Given the description of an element on the screen output the (x, y) to click on. 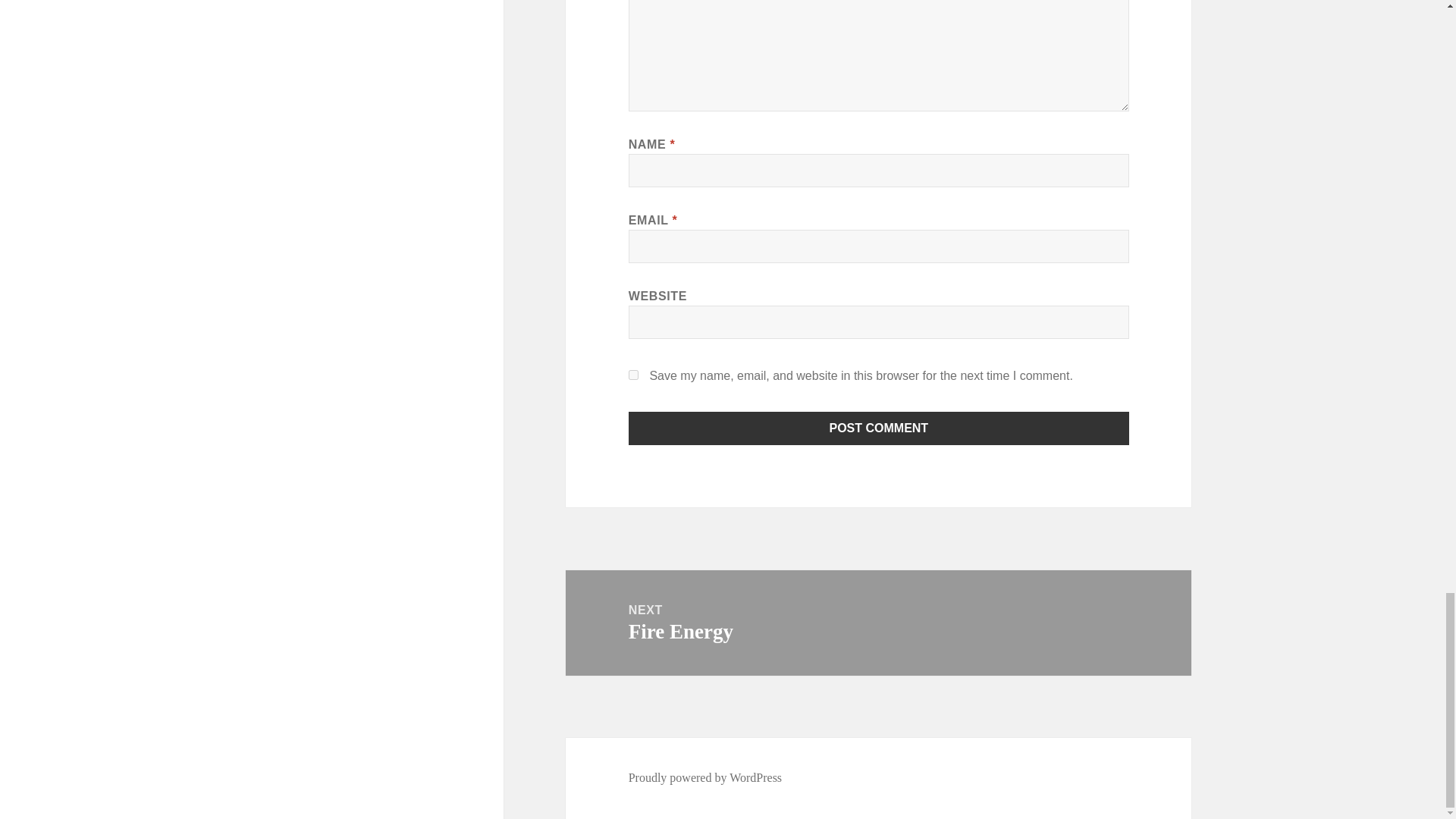
yes (633, 375)
Post Comment (878, 428)
Proudly powered by WordPress (878, 622)
Post Comment (704, 777)
